Given the description of an element on the screen output the (x, y) to click on. 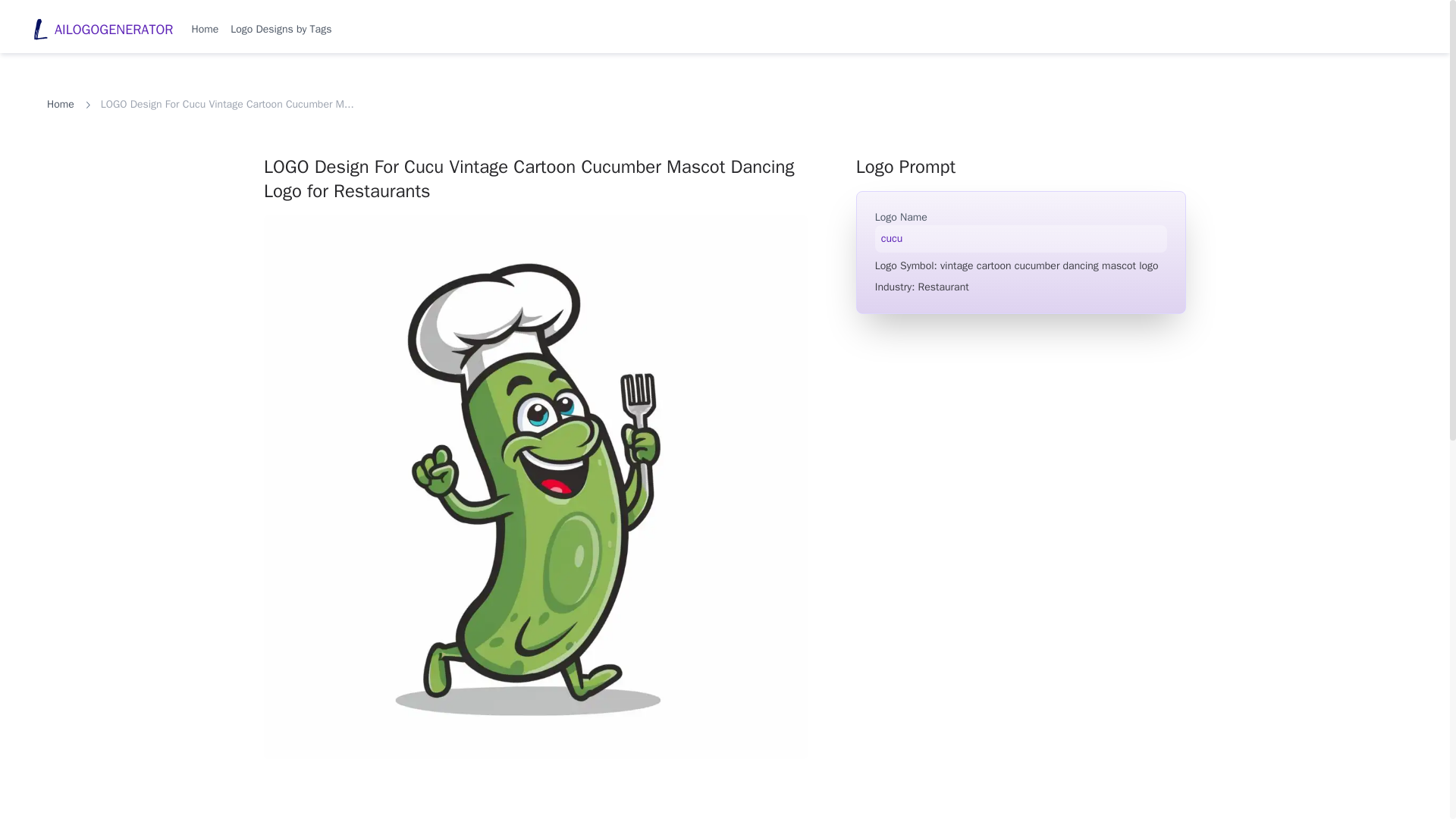
Home (60, 104)
AILOGOGENERATOR (101, 29)
Logo Designs by Tags (280, 29)
Home (204, 29)
